Given the description of an element on the screen output the (x, y) to click on. 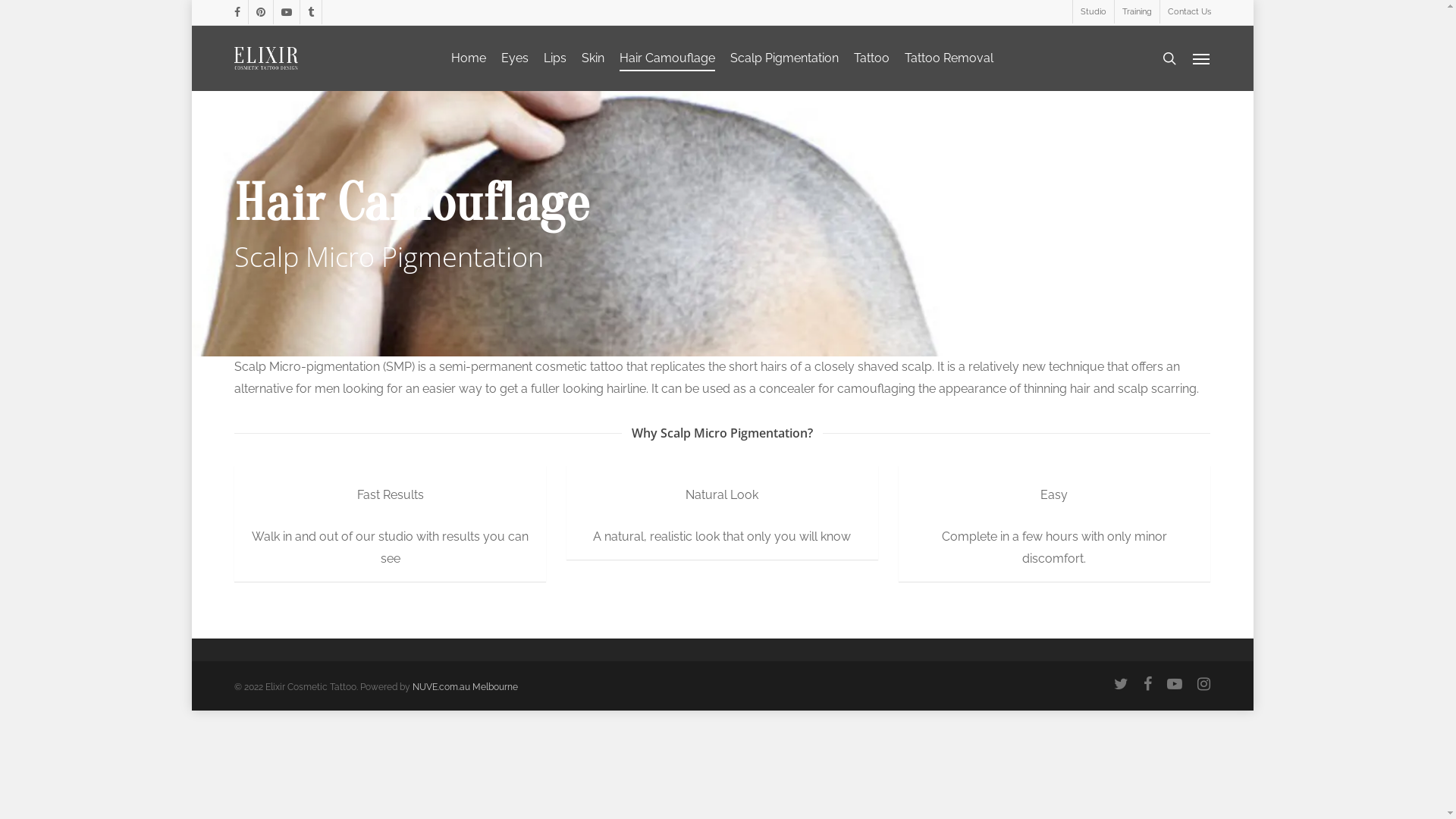
Tattoo Element type: text (871, 58)
Lips Element type: text (554, 58)
Hair Camouflage Element type: text (667, 58)
Studio Element type: text (1092, 11)
Scalp Pigmentation Element type: text (784, 58)
Tattoo Removal Element type: text (948, 58)
NUVE.com.au Melbourne Element type: text (464, 686)
Home Element type: text (468, 58)
Skin Element type: text (592, 58)
Eyes Element type: text (514, 58)
Training Element type: text (1135, 11)
Contact Us Element type: text (1184, 11)
